Given the description of an element on the screen output the (x, y) to click on. 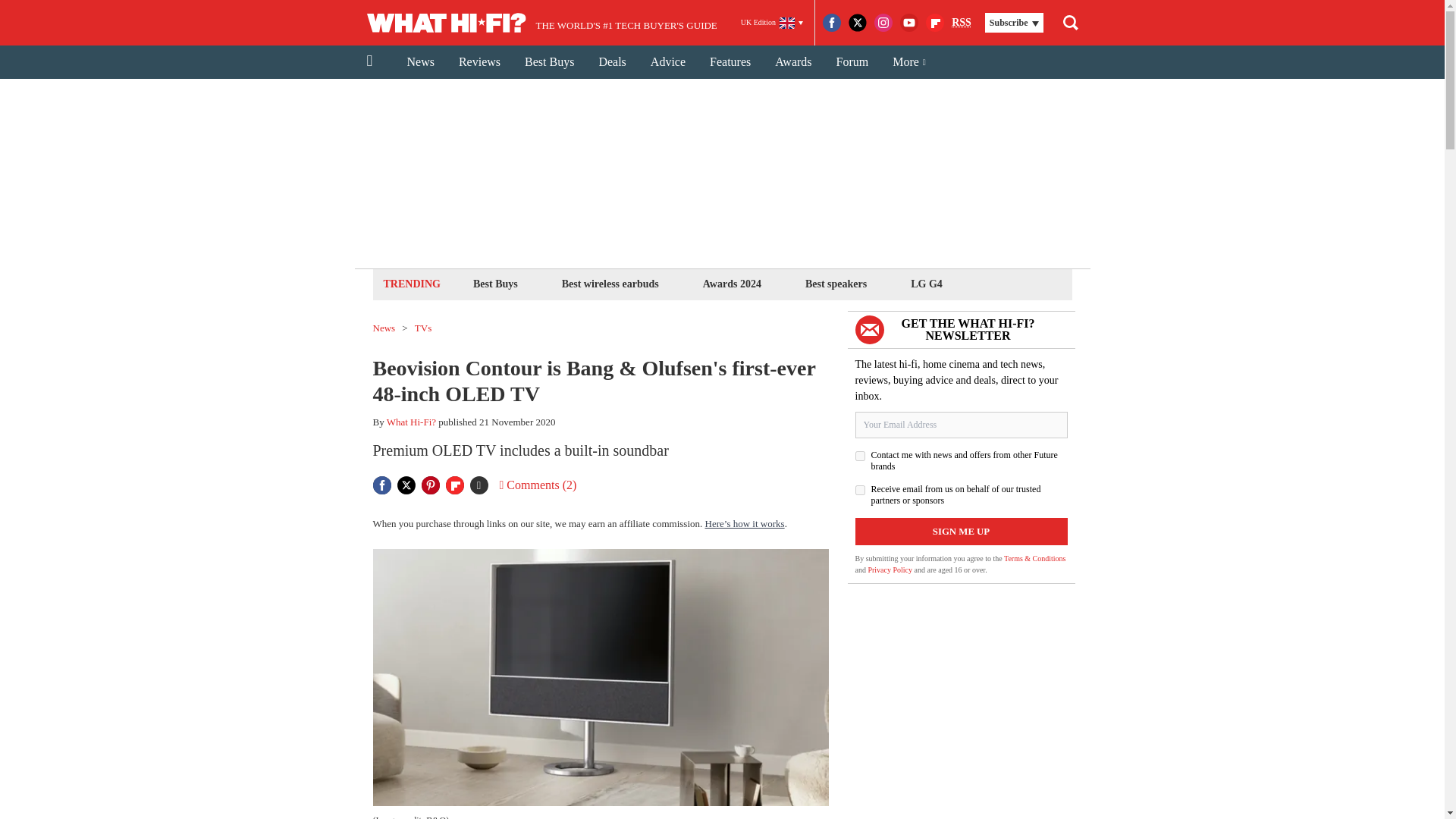
on (860, 456)
LG G4 (926, 283)
Awards (793, 61)
Features (729, 61)
Really Simple Syndication (961, 21)
Best speakers (835, 283)
Sign me up (961, 531)
Awards 2024 (732, 283)
Deals (611, 61)
Best Buys (494, 283)
